Given the description of an element on the screen output the (x, y) to click on. 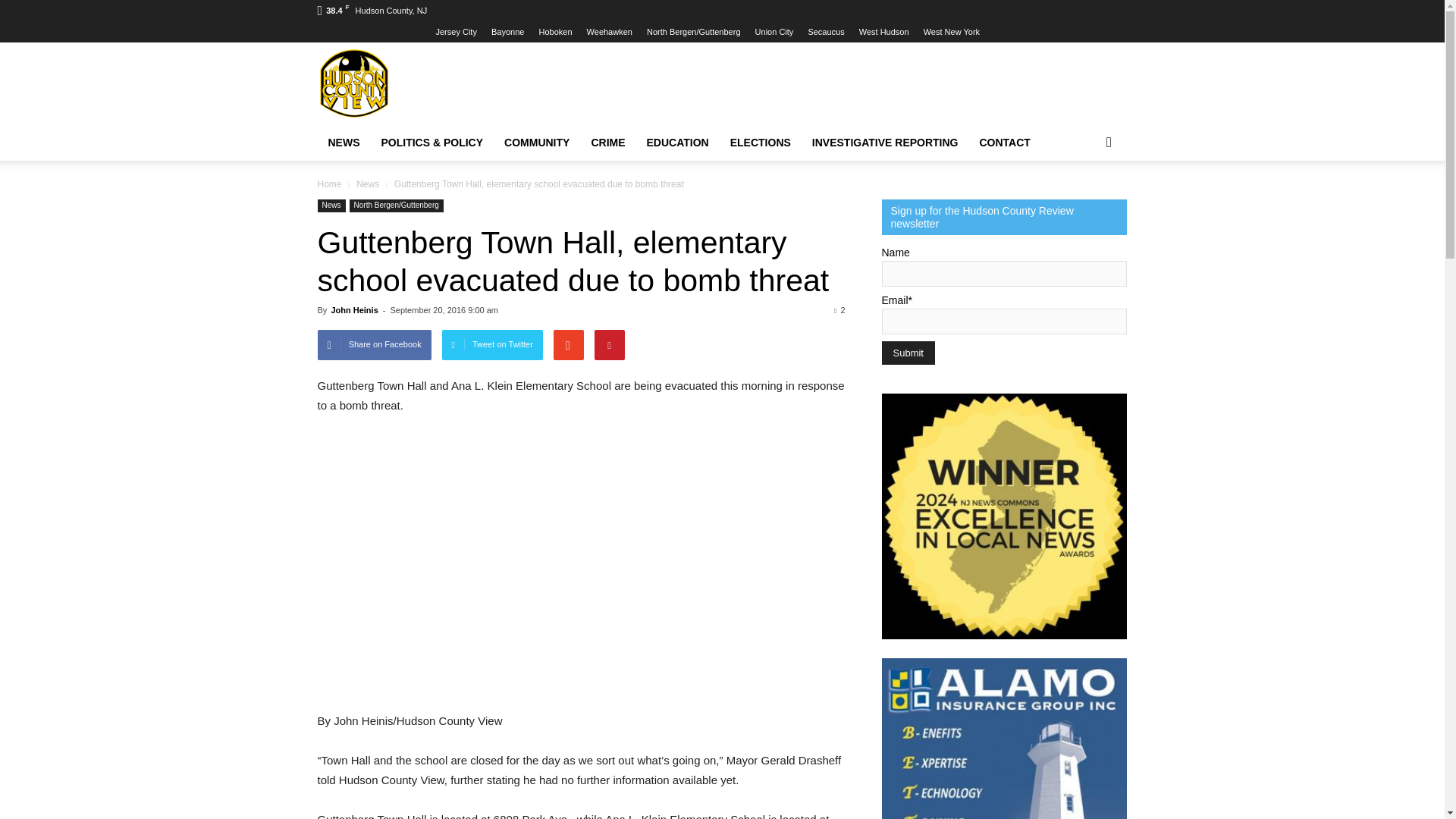
Submit (907, 352)
Bayonne (508, 31)
West New York (951, 31)
Weehawken (608, 31)
CRIME (606, 142)
ELECTIONS (760, 142)
Secaucus (826, 31)
West Hudson (883, 31)
COMMUNITY (536, 142)
Jersey City (455, 31)
NEWS (343, 142)
INVESTIGATIVE REPORTING (885, 142)
Hoboken (555, 31)
View all posts in News (368, 184)
EDUCATION (677, 142)
